Given the description of an element on the screen output the (x, y) to click on. 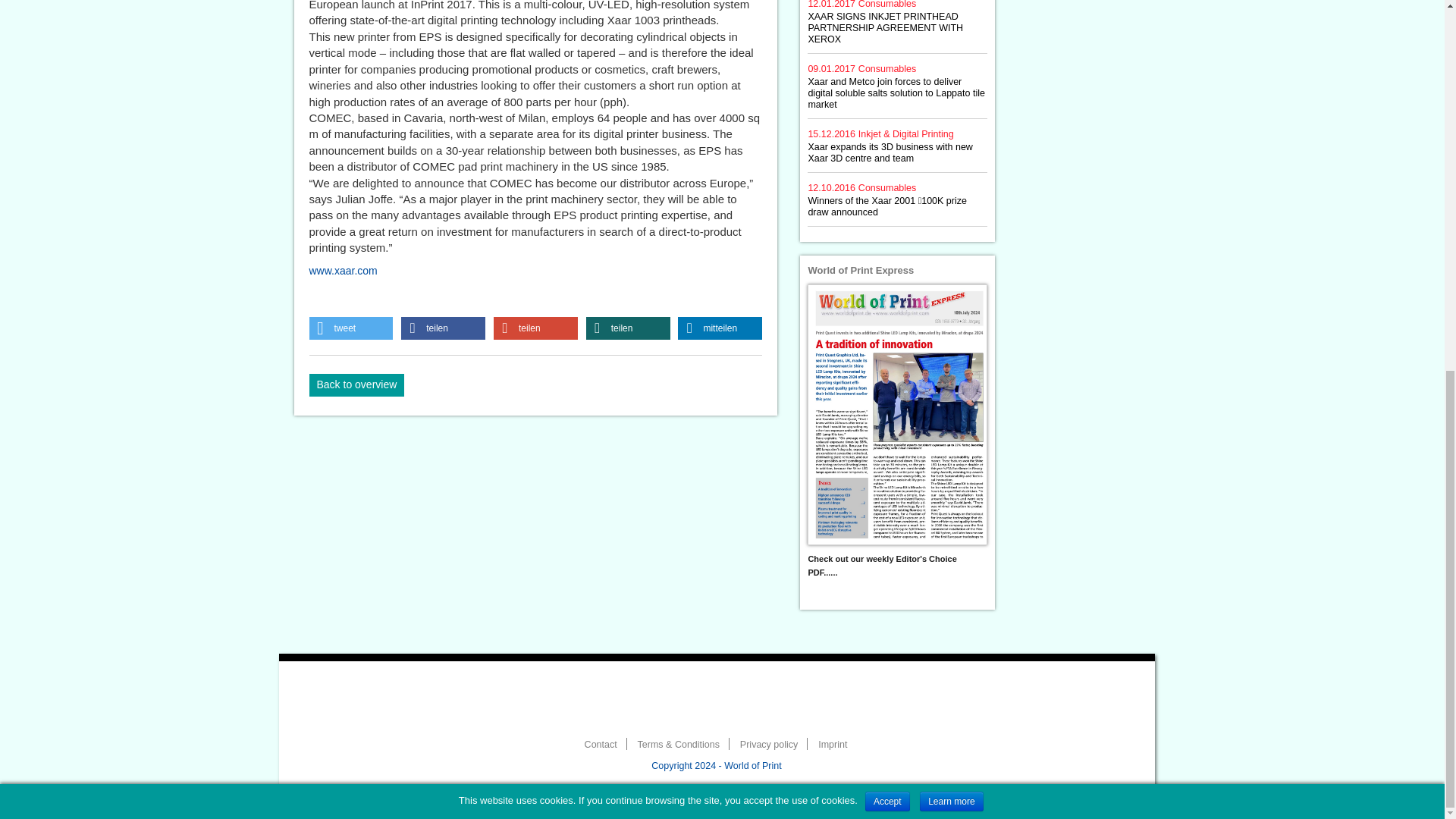
Bei Twitter teilen (350, 327)
Bei XING teilen (627, 327)
Bei LinkedIn teilen (719, 327)
Bei Facebook teilen (442, 327)
